Given the description of an element on the screen output the (x, y) to click on. 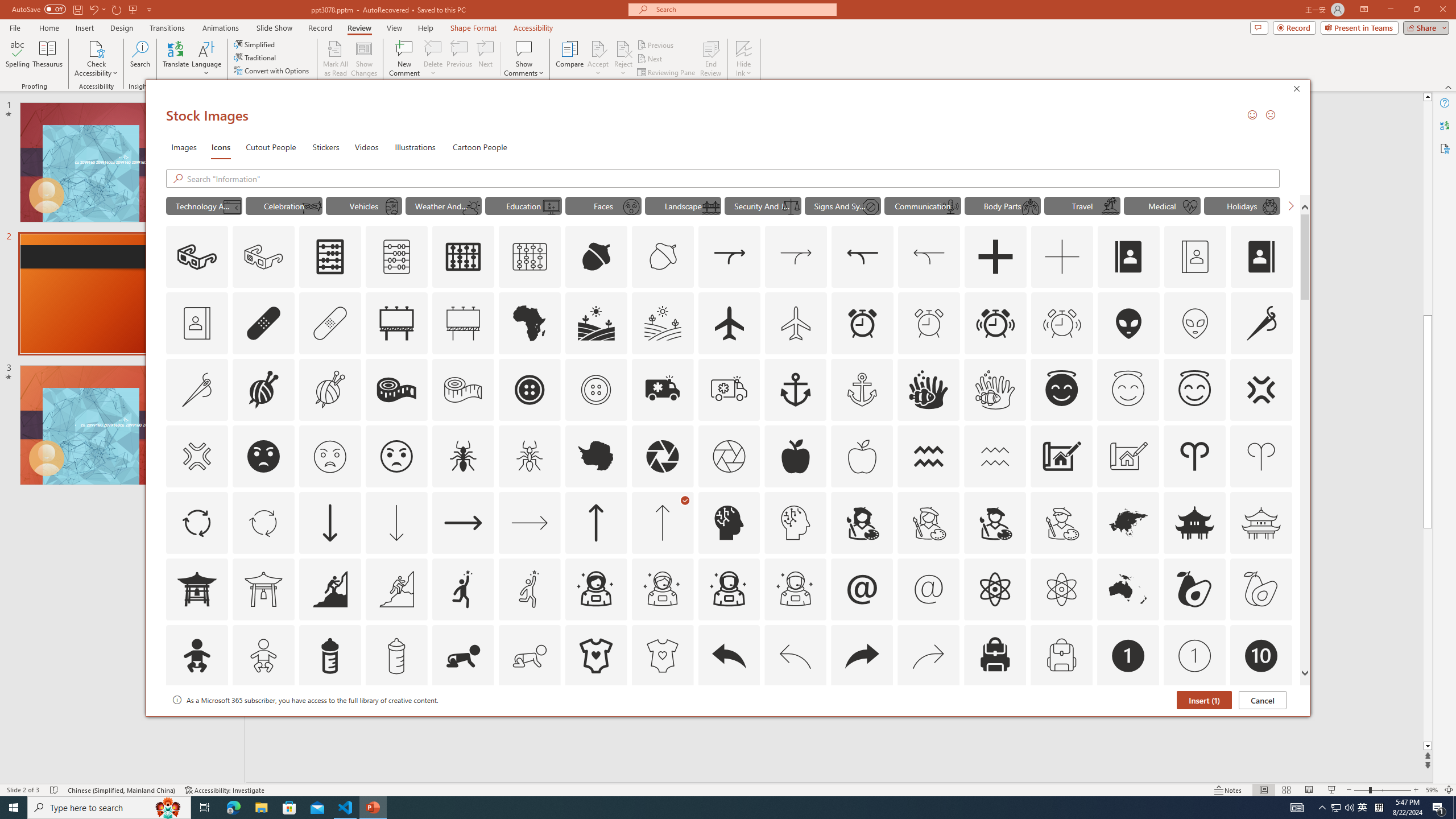
AutomationID: Icons_Badge7_M (995, 721)
AutomationID: Icons_Badge5_M (729, 721)
AutomationID: Icons_BridgeScene_M (710, 206)
AutomationID: Icons_AsianTemple1_M (263, 588)
AutomationID: Icons_Airplane (729, 323)
AutomationID: Icons_Avocado_M (1260, 588)
AutomationID: Icons_Badge3_M (462, 721)
